Given the description of an element on the screen output the (x, y) to click on. 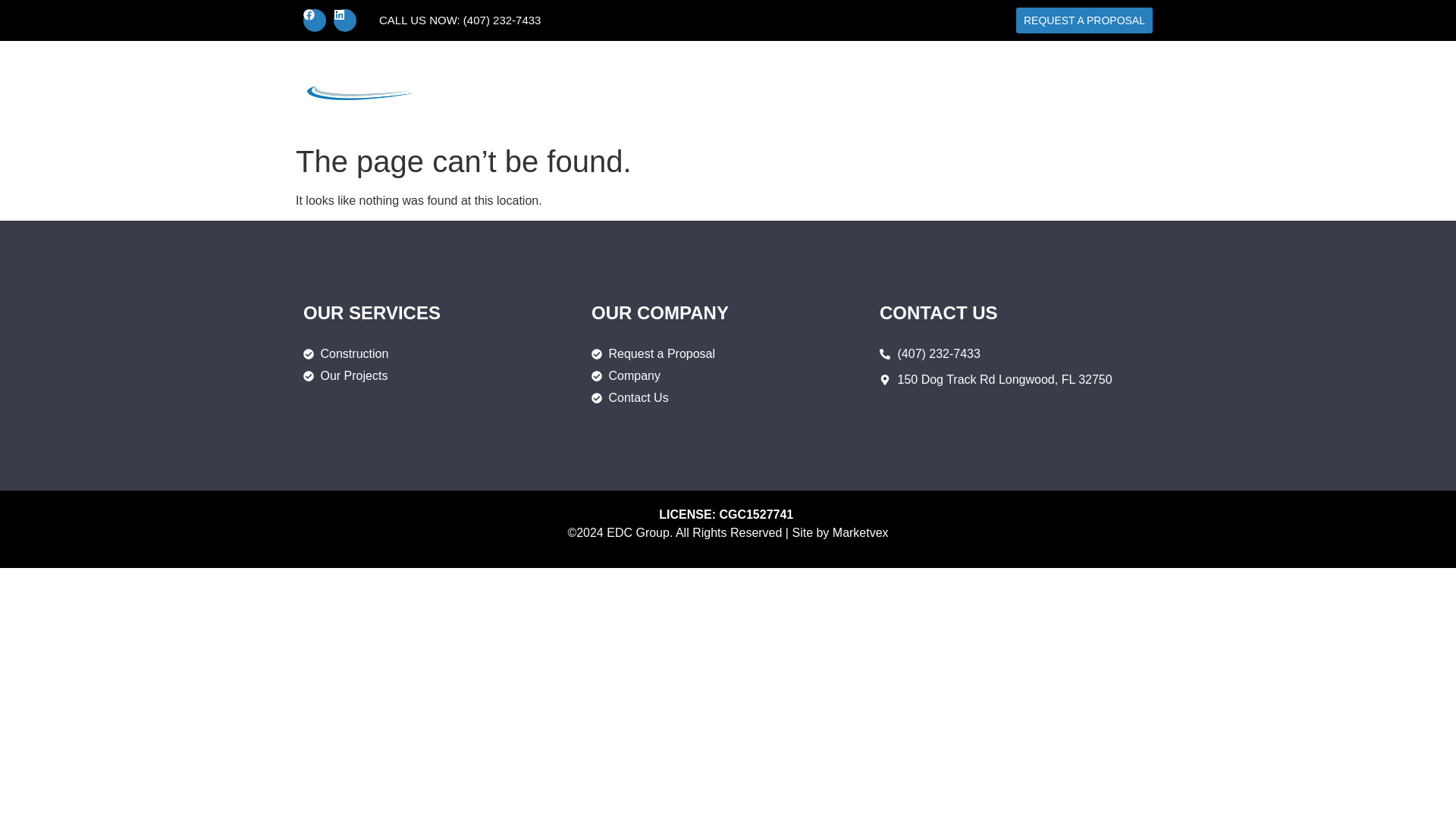
Request a Proposal (652, 353)
About Us (942, 88)
Construction (345, 353)
REQUEST A PROPOSAL (1084, 20)
Company (652, 375)
Testimonials (1028, 88)
Our Projects (345, 375)
Projects (869, 88)
150 Dog Track Rd Longwood, FL 32750 (995, 380)
Contact Us (652, 398)
Home (706, 88)
Contact Us (1121, 88)
Construction (784, 88)
